Given the description of an element on the screen output the (x, y) to click on. 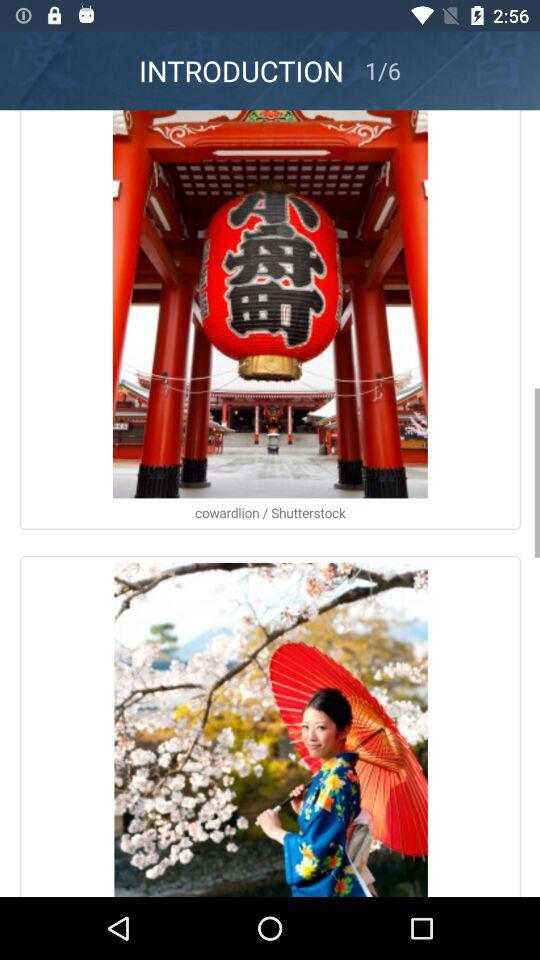
open pictures (270, 503)
